Given the description of an element on the screen output the (x, y) to click on. 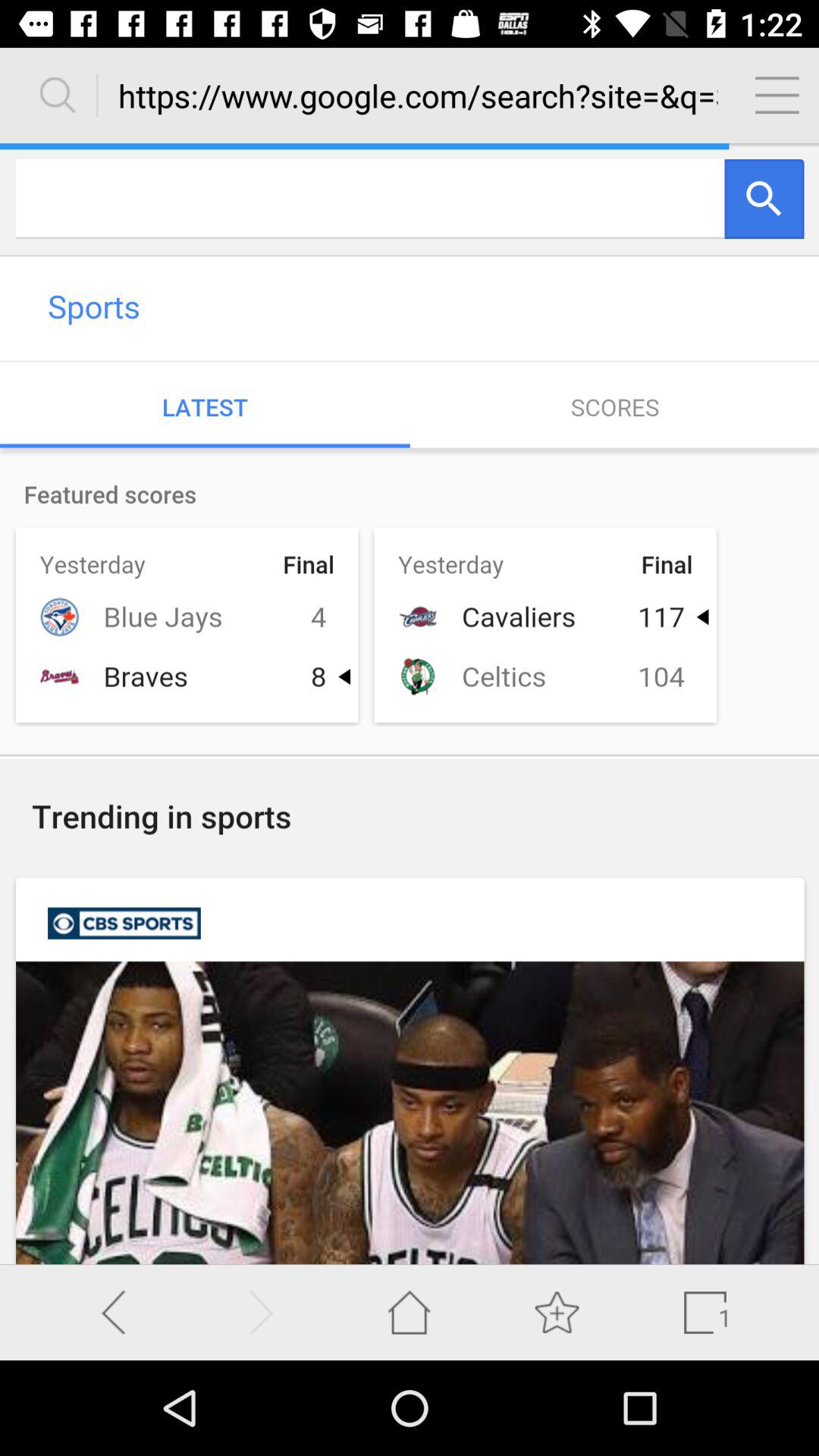
menu button (777, 95)
